Given the description of an element on the screen output the (x, y) to click on. 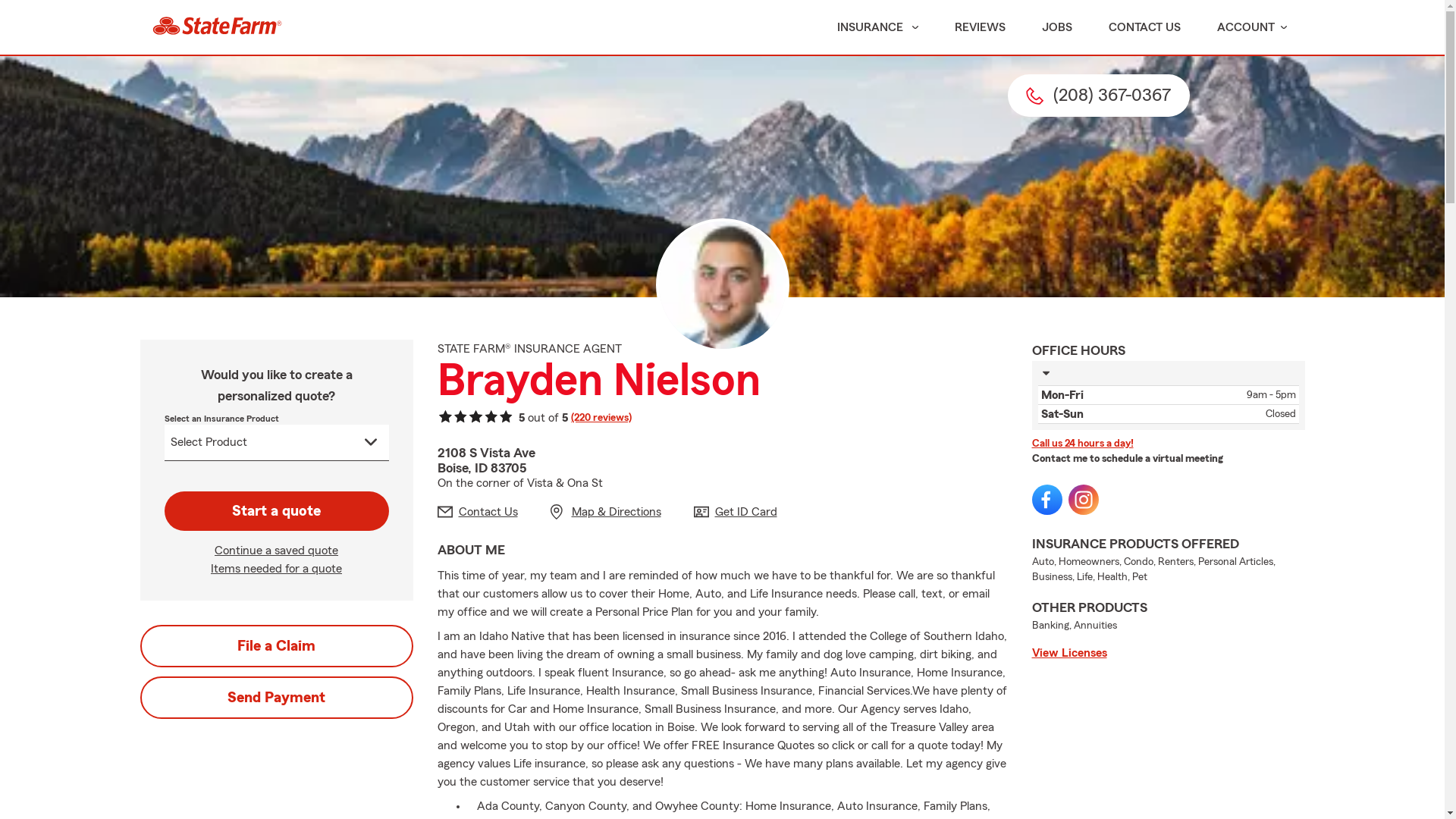
Call us 24 hours a day! Element type: text (1167, 442)
REVIEWS Element type: text (978, 27)
View Licenses Element type: text (1167, 651)
Map & Directions Element type: text (605, 511)
CONTACT US Element type: text (1144, 27)
5 out of 5
average rating
(220 reviews) Element type: text (533, 418)
Send Payment Element type: text (275, 697)
JOBS Element type: text (1056, 27)
Continue a saved quote Element type: text (275, 550)
Get ID Card Element type: text (734, 511)
INSURANCE Element type: text (868, 27)
Items needed for a quote Element type: text (275, 568)
(208) 367-0367 Element type: text (1098, 95)
ACCOUNT Element type: text (1251, 27)
Contact Us Element type: text (476, 511)
Start a quote Element type: text (275, 510)
File a Claim Element type: text (275, 645)
